Given the description of an element on the screen output the (x, y) to click on. 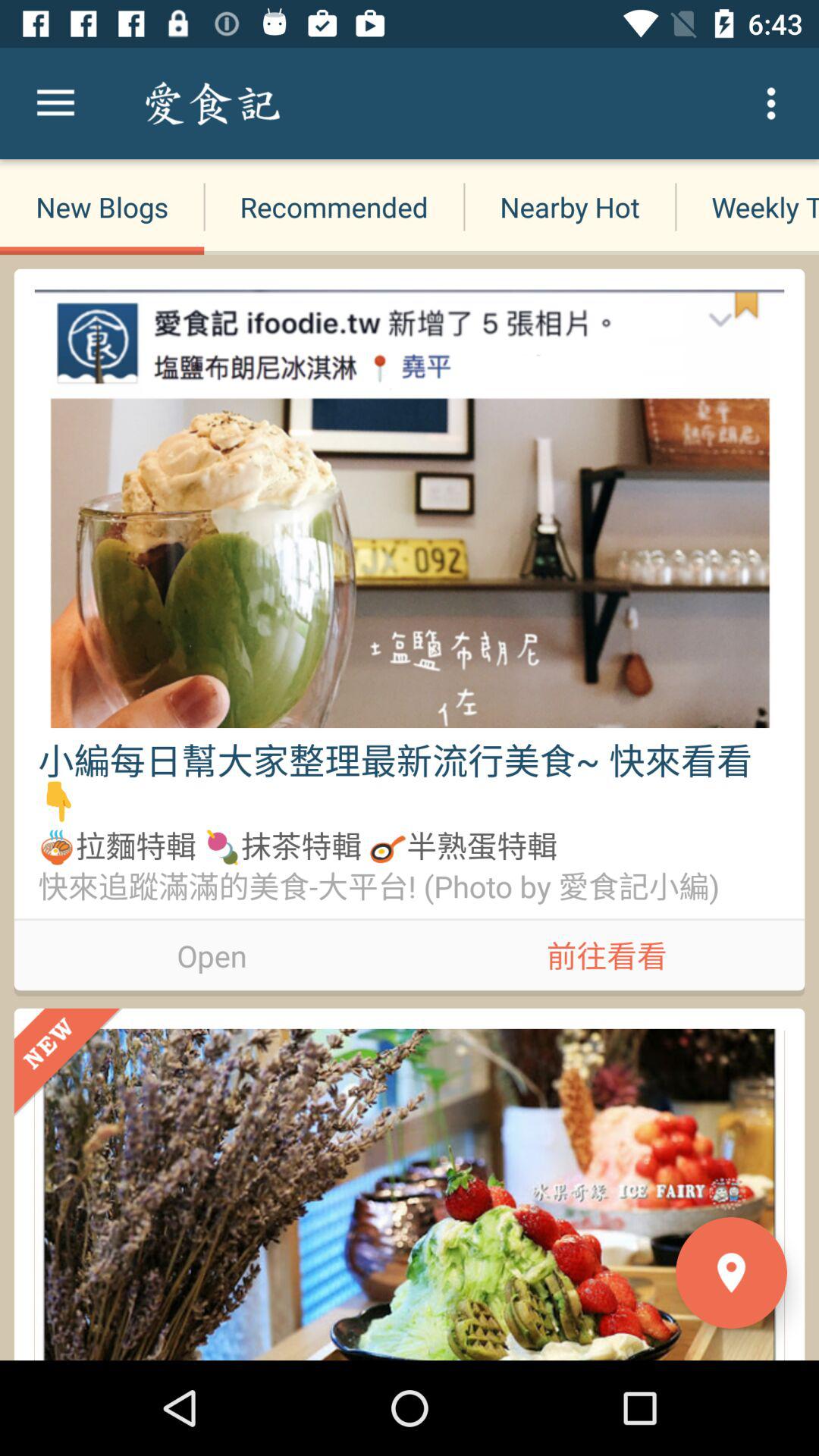
jump until recommended icon (334, 206)
